Given the description of an element on the screen output the (x, y) to click on. 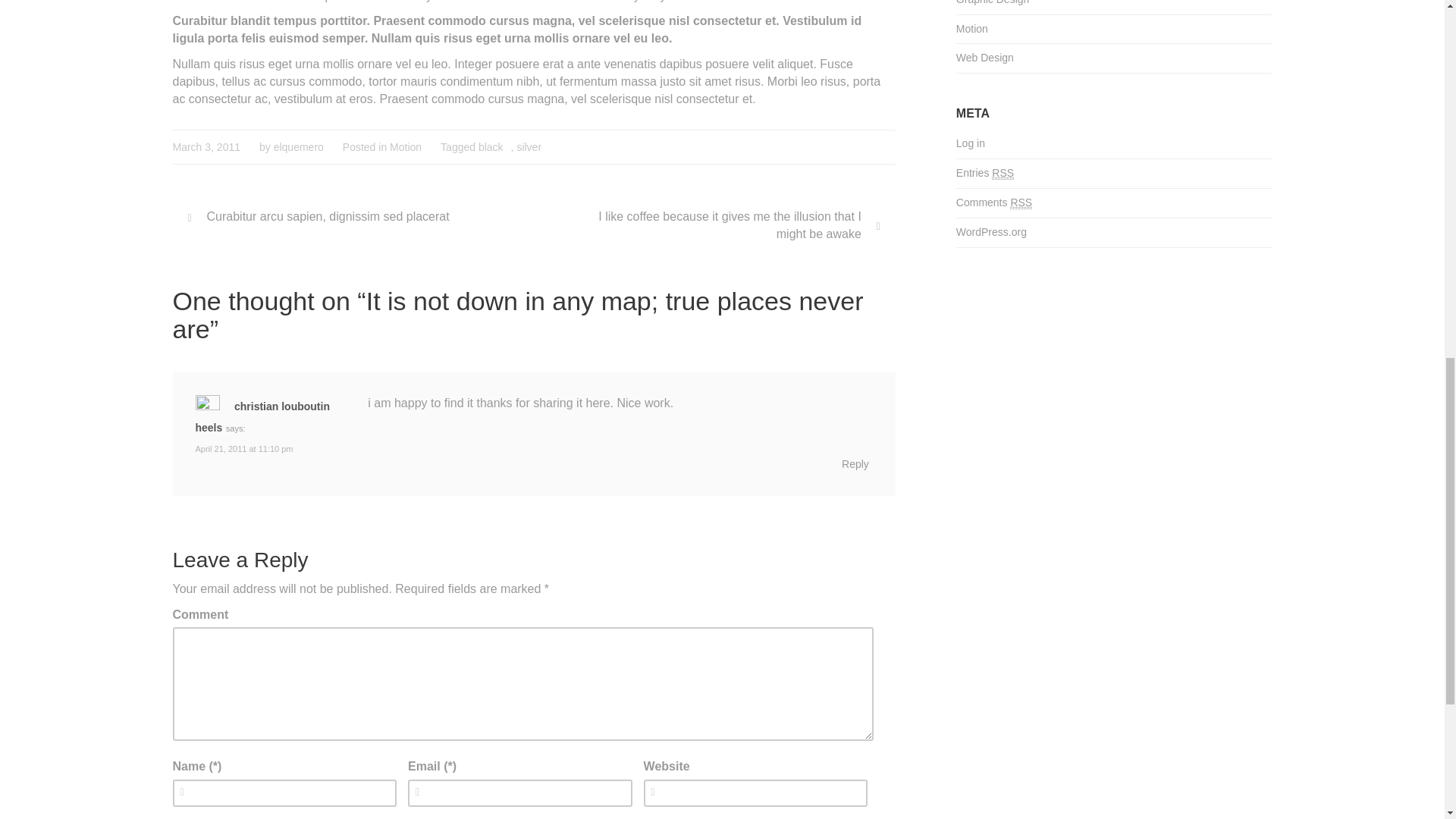
elquemero (298, 146)
Motion (972, 29)
Comments RSS (1114, 203)
black (491, 146)
Really Simple Syndication (1021, 202)
Web Design (984, 58)
April 21, 2011 at 11:10 pm (244, 448)
christian louboutin heels (262, 417)
WordPress.org (1114, 232)
